Given the description of an element on the screen output the (x, y) to click on. 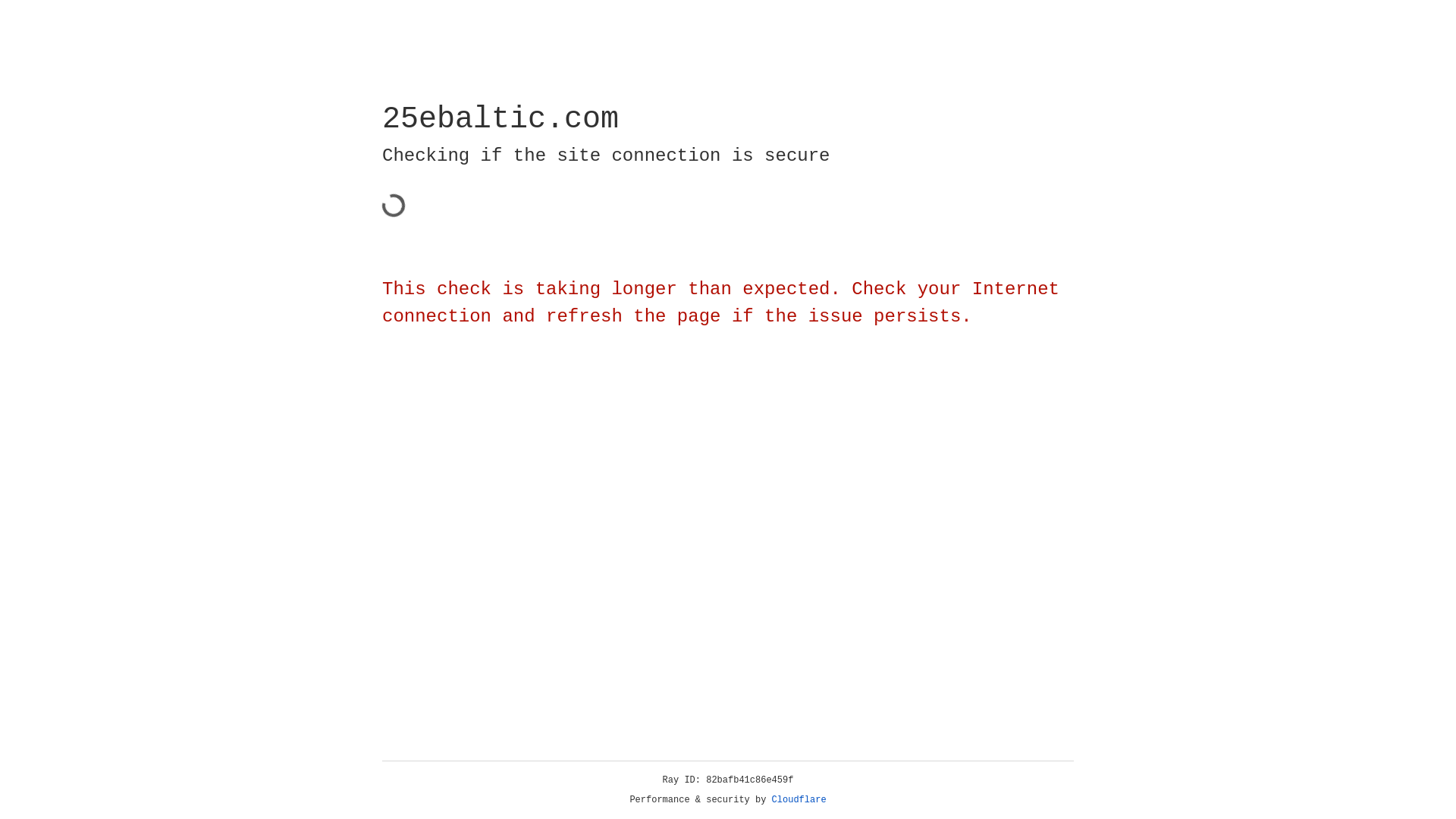
Cloudflare Element type: text (798, 799)
